Given the description of an element on the screen output the (x, y) to click on. 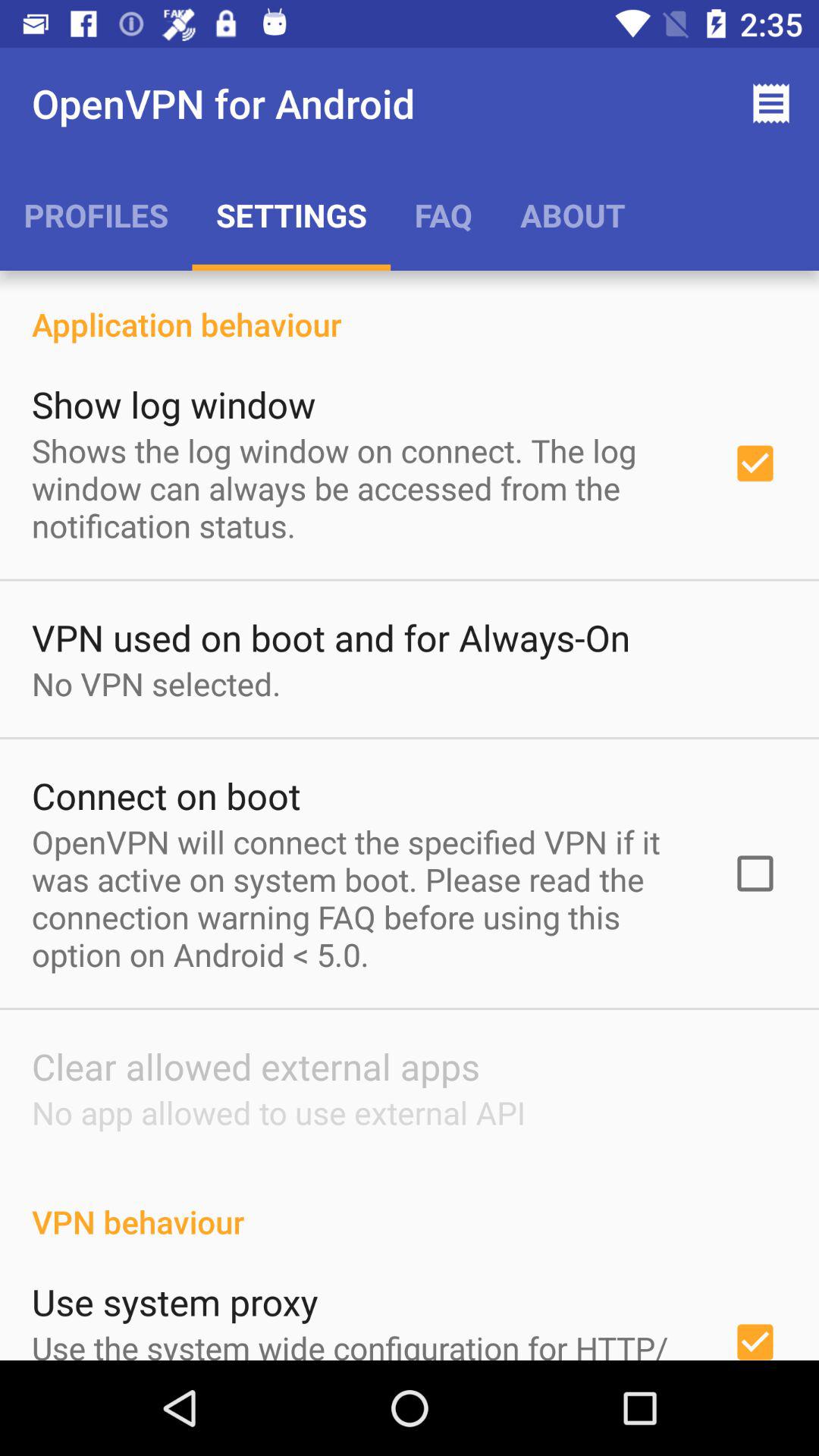
turn off the about item (572, 214)
